Given the description of an element on the screen output the (x, y) to click on. 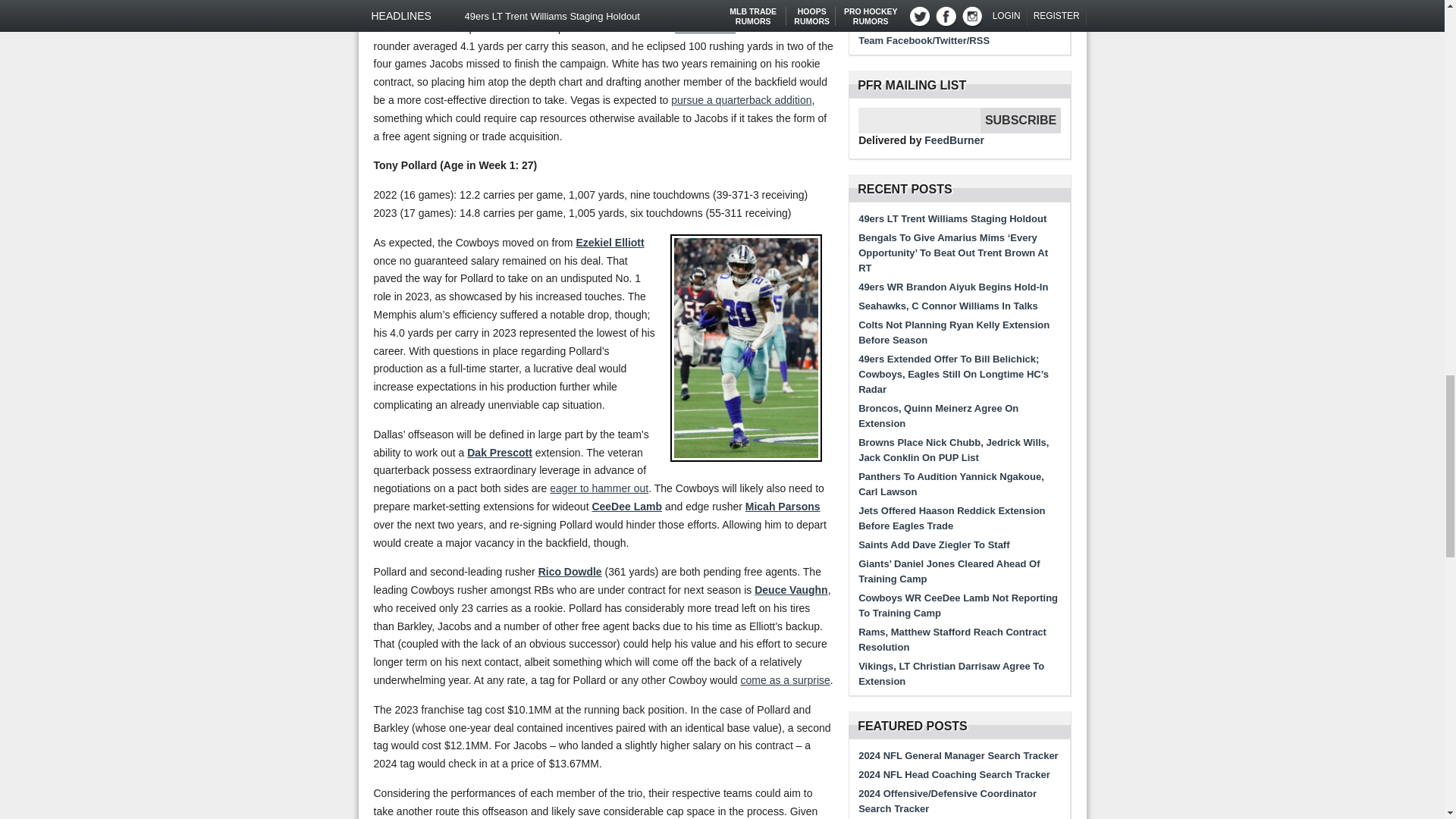
Subscribe (1020, 120)
